Given the description of an element on the screen output the (x, y) to click on. 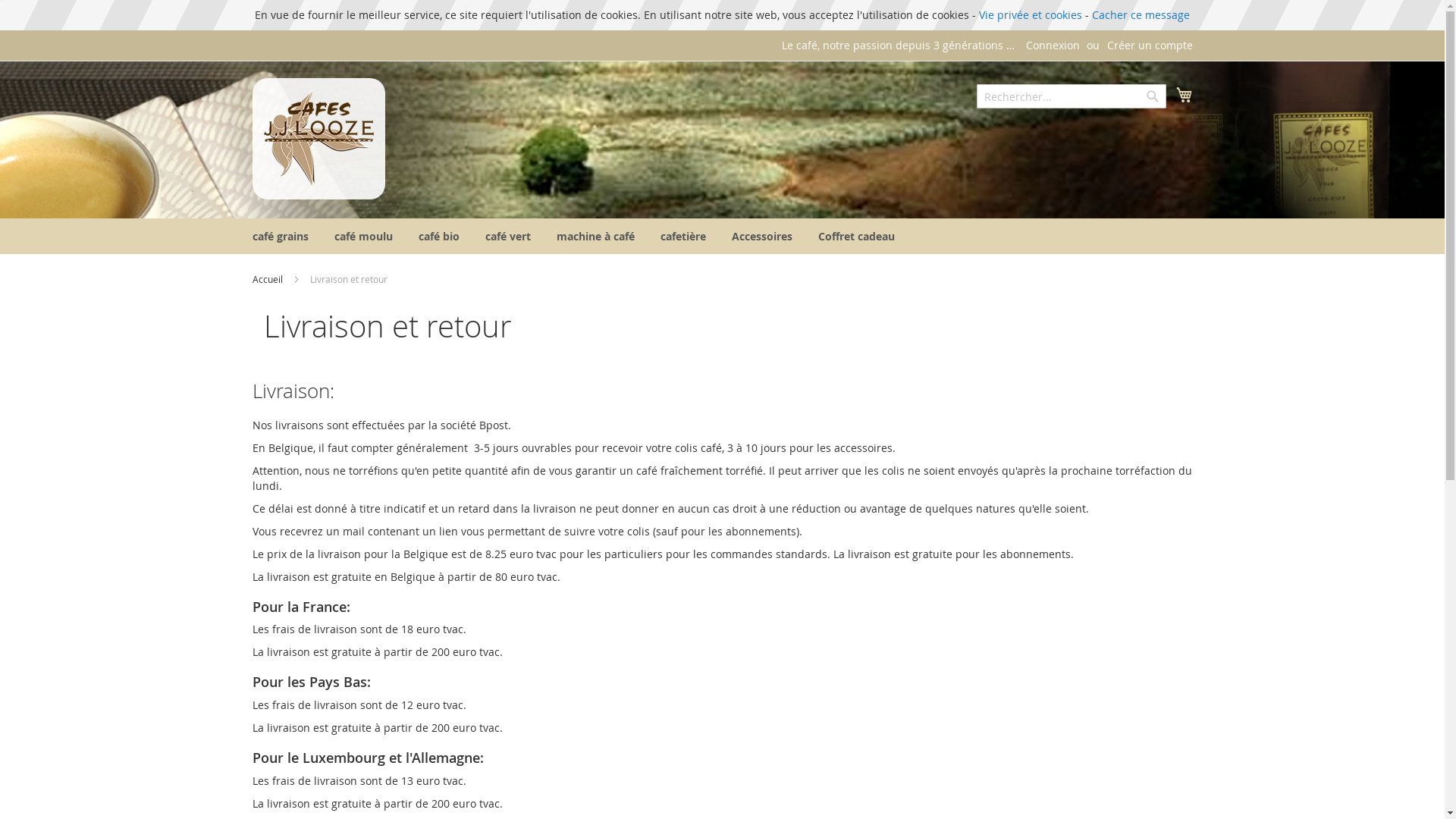
Rechercher Element type: text (1152, 96)
Mon panier Element type: text (1183, 94)
Allez au contenu Element type: text (251, 37)
Connexion Element type: text (1052, 45)
Cacher ce message Element type: text (1140, 14)
Accueil Element type: text (267, 279)
Accessoires Element type: text (760, 236)
Coffret cadeau Element type: text (855, 236)
